Given the description of an element on the screen output the (x, y) to click on. 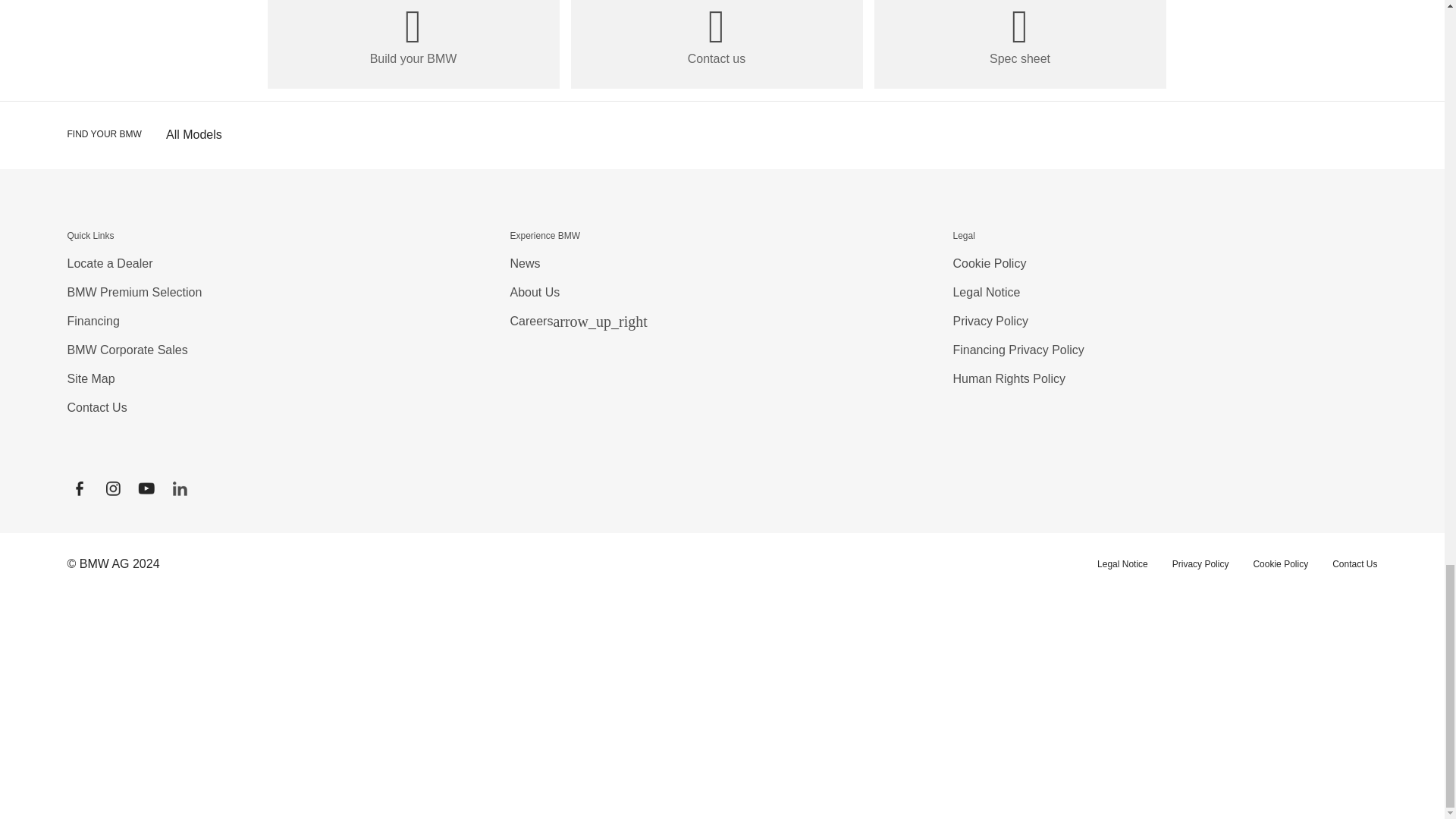
Spec sheet (1019, 44)
Contact us (716, 44)
Build your BMW (412, 44)
